Given the description of an element on the screen output the (x, y) to click on. 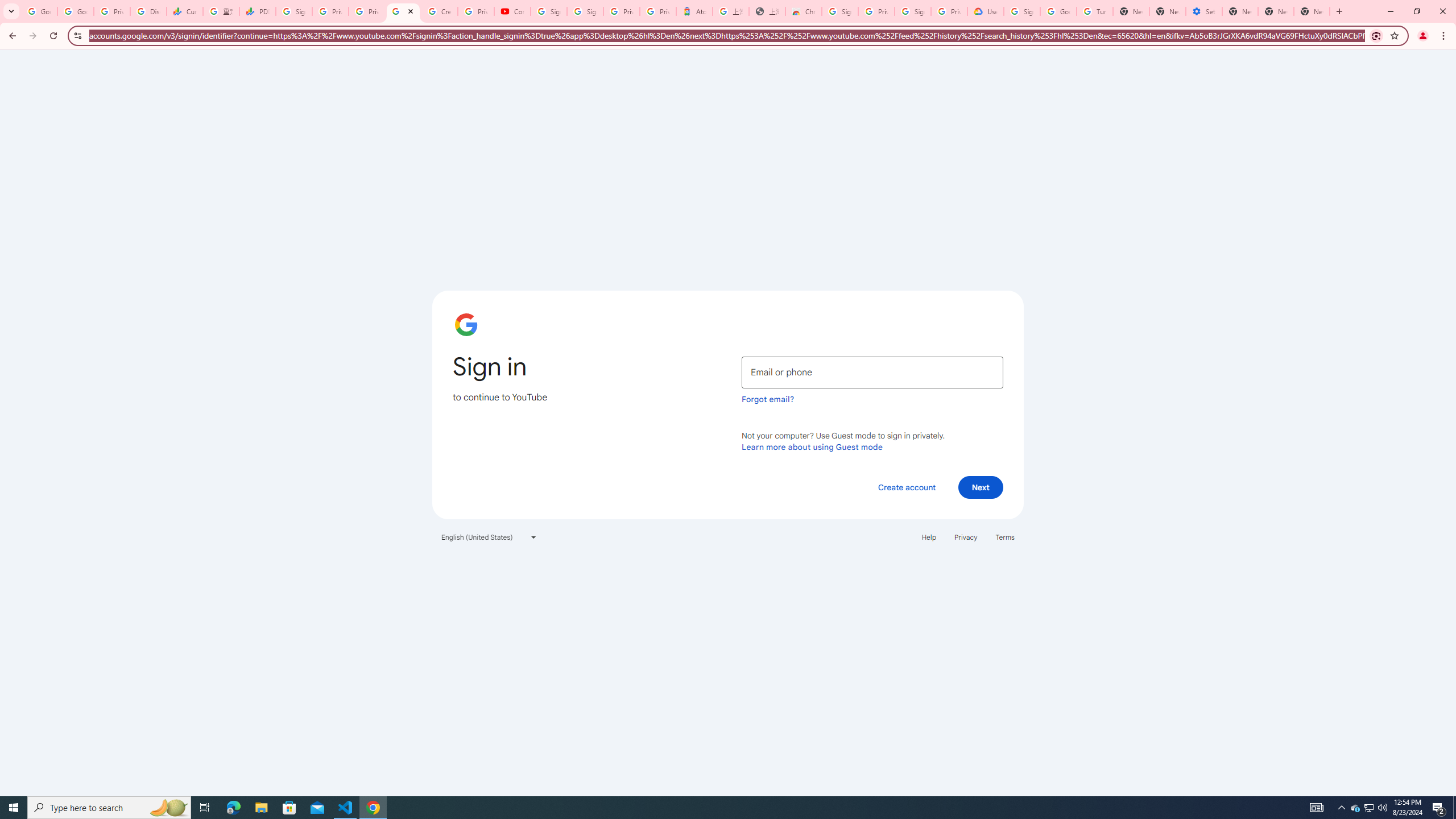
English (United States) (489, 536)
Atour Hotel - Google hotels (694, 11)
Sign in - Google Accounts (839, 11)
Search with Google Lens (1376, 35)
Turn cookies on or off - Computer - Google Account Help (1094, 11)
Currencies - Google Finance (184, 11)
New Tab (1311, 11)
Create account (905, 486)
